Given the description of an element on the screen output the (x, y) to click on. 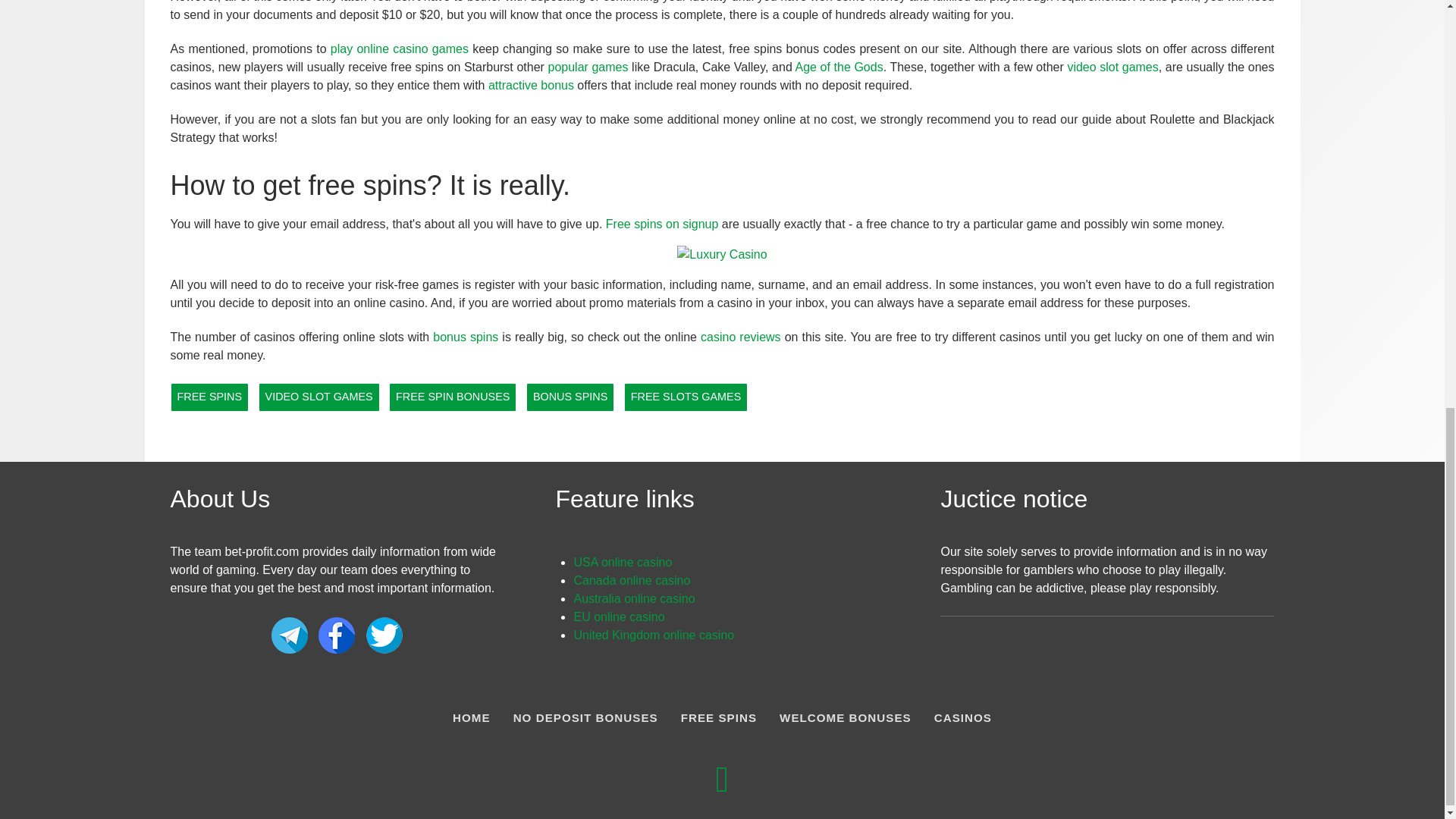
play (343, 48)
Luxury Casino (722, 253)
